Given the description of an element on the screen output the (x, y) to click on. 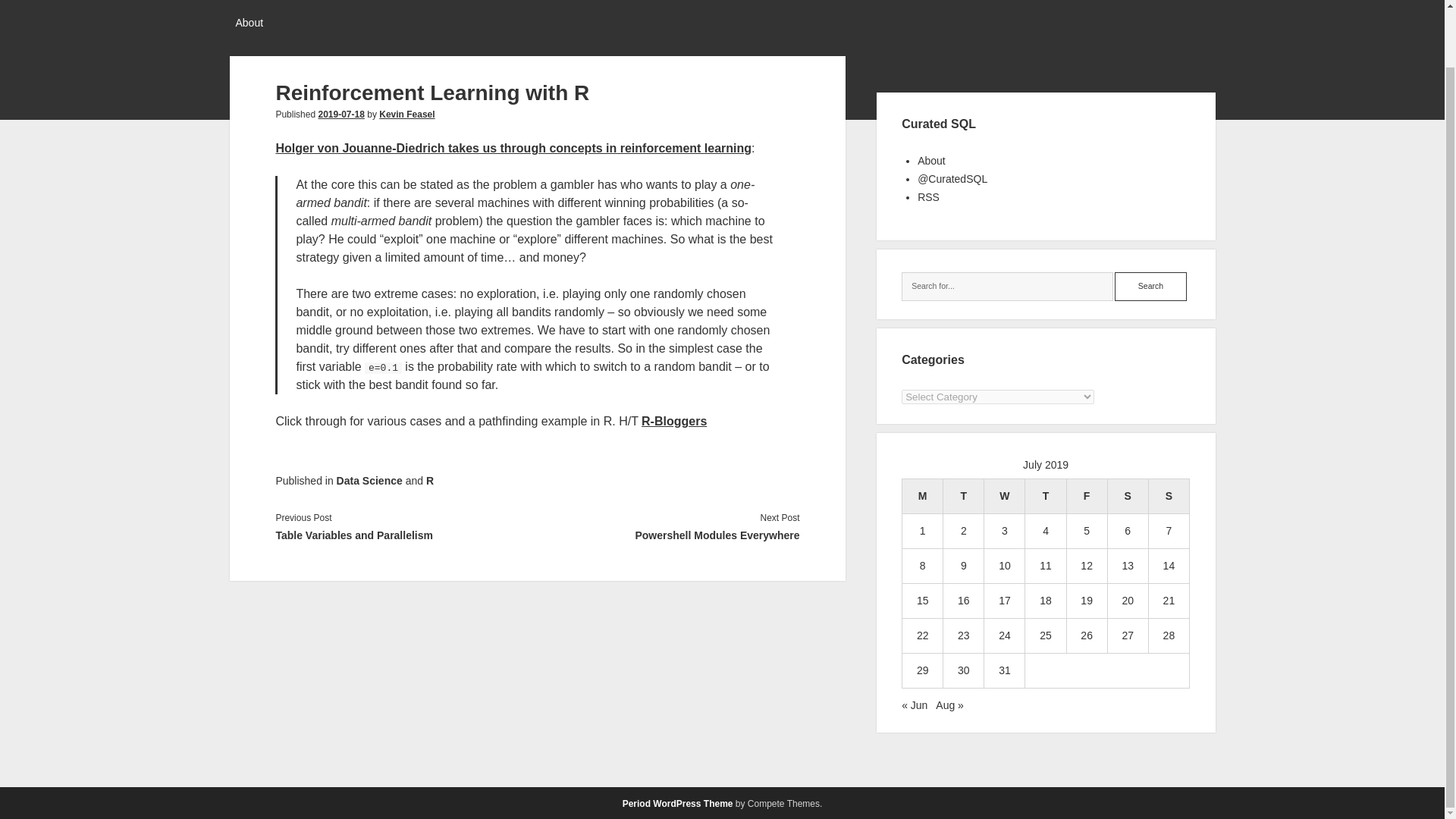
3 (1004, 530)
12 (1086, 565)
5 (1086, 530)
About (248, 23)
View all posts in Data Science (369, 480)
31 (1004, 670)
16 (963, 600)
RSS (928, 196)
8 (923, 565)
30 (963, 670)
R-Bloggers (674, 420)
About (930, 160)
2 (963, 530)
Monday (922, 495)
Tuesday (963, 495)
